Given the description of an element on the screen output the (x, y) to click on. 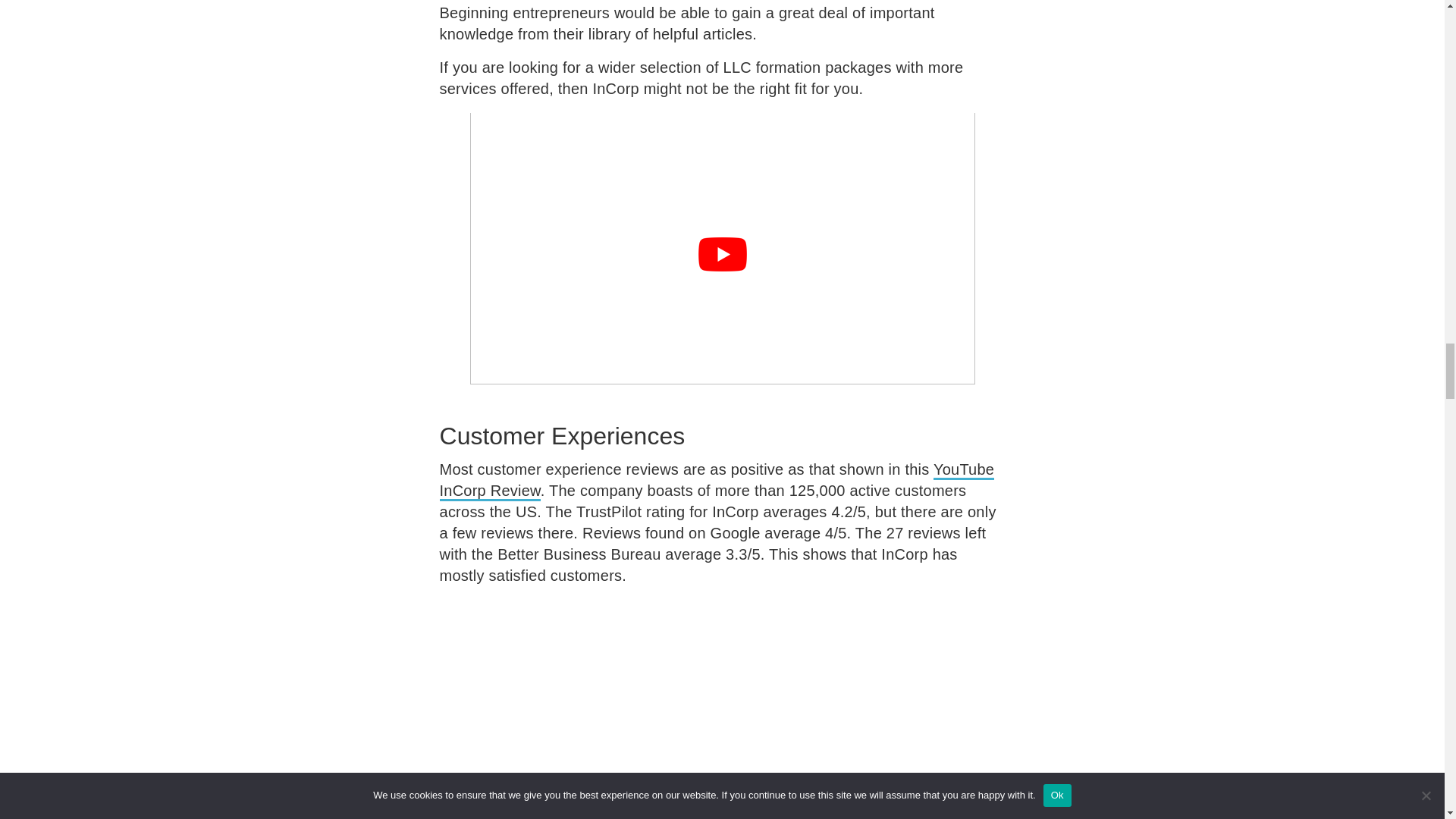
YouTube InCorp Review (716, 481)
